Given the description of an element on the screen output the (x, y) to click on. 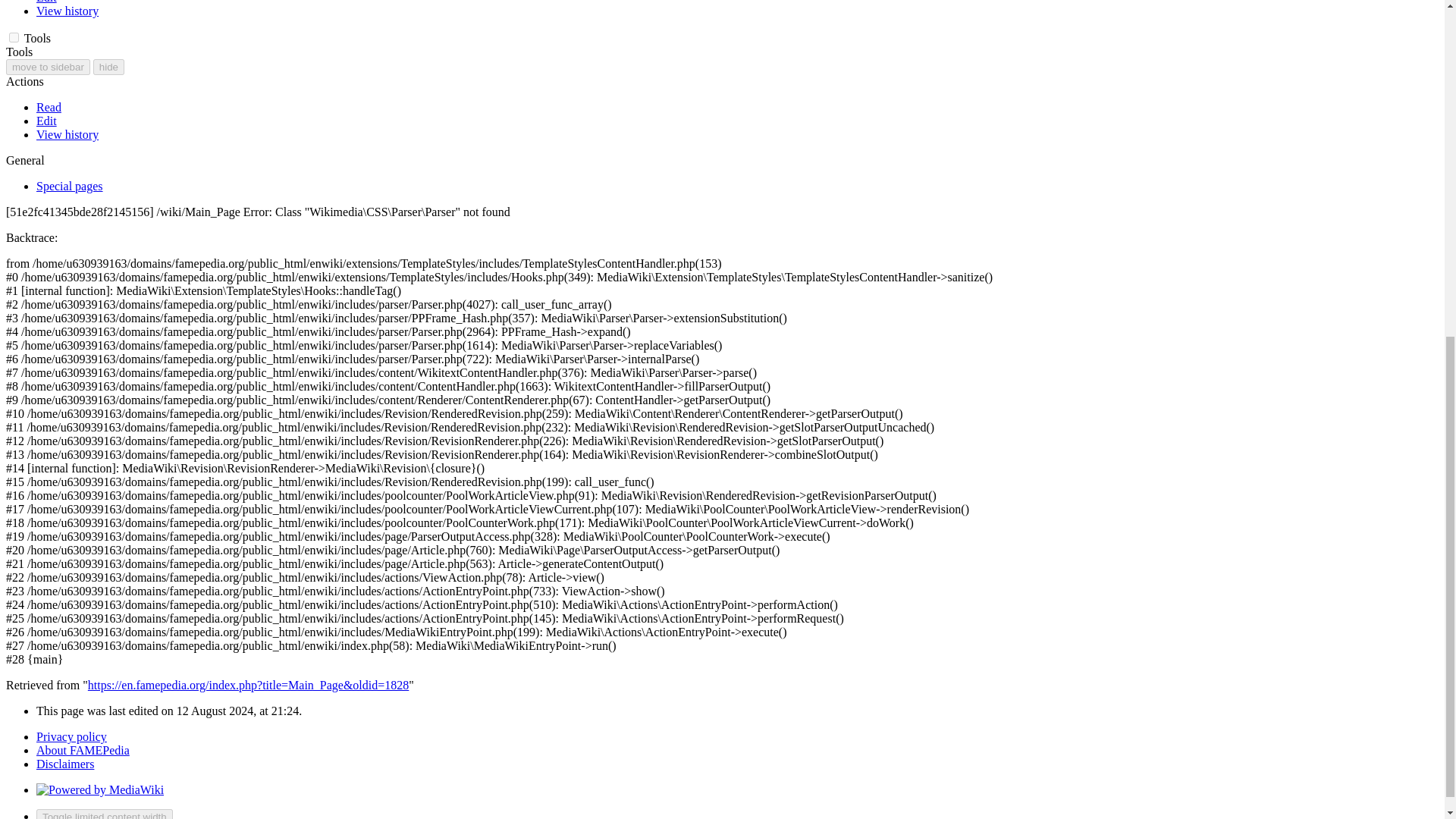
Privacy policy (71, 736)
Read (48, 106)
Disclaimers (65, 763)
Special pages (69, 185)
on (13, 37)
hide (108, 66)
View history (67, 10)
Edit (46, 2)
About FAMEPedia (82, 749)
Edit (46, 120)
